Given the description of an element on the screen output the (x, y) to click on. 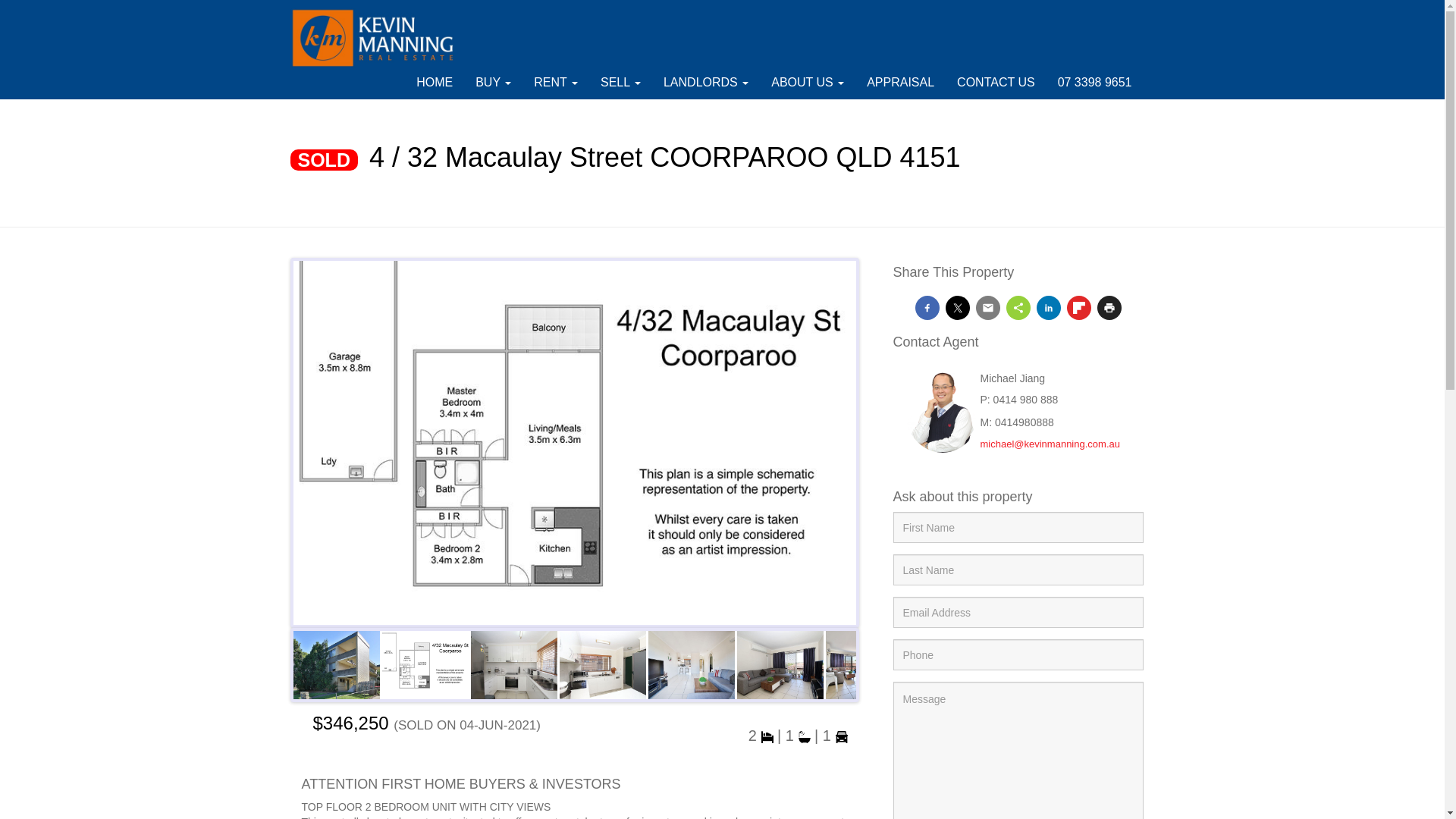
ABOUT US Element type: text (807, 82)
LANDLORDS Element type: text (705, 82)
HOME Element type: text (434, 82)
SELL Element type: text (620, 82)
APPRAISAL Element type: text (900, 82)
RENT Element type: text (555, 82)
michael@kevinmanning.com.au Element type: text (1049, 443)
CONTACT US Element type: text (995, 82)
BUY Element type: text (493, 82)
07 3398 9651 Element type: text (1094, 82)
